Given the description of an element on the screen output the (x, y) to click on. 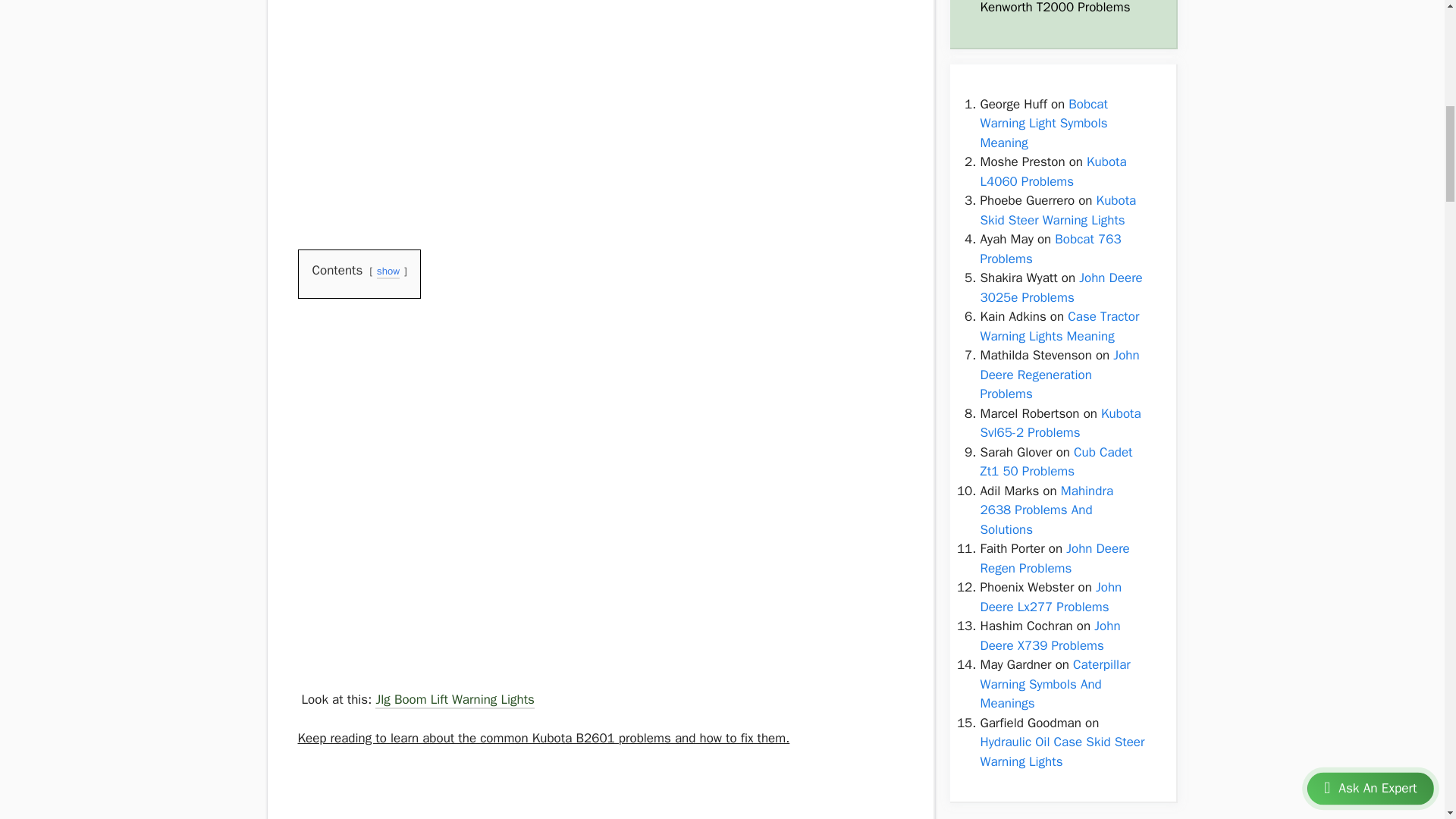
Jlg Boom Lift Warning Lights (454, 700)
kubota b2601 problems 2 (410, 374)
show (388, 272)
